Given the description of an element on the screen output the (x, y) to click on. 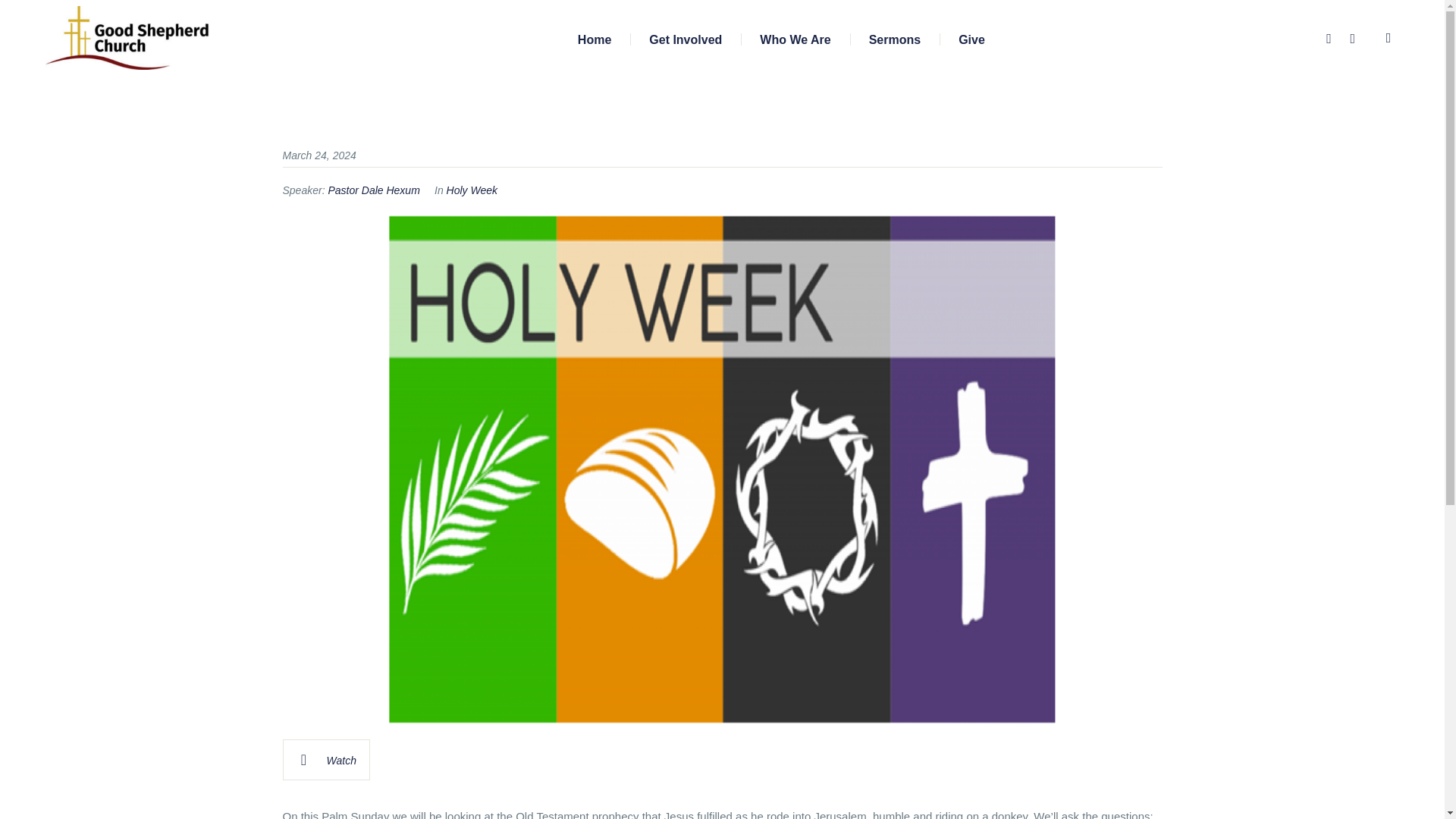
March 24, 2024 (318, 155)
Facebook (1329, 38)
Who We Are (794, 38)
Speaker Pastor Dale Hexum (373, 190)
Watch (325, 759)
Home (594, 38)
Holy Week (471, 190)
Pastor Dale Hexum (373, 190)
Sermons (894, 38)
YouTube (1352, 38)
